Given the description of an element on the screen output the (x, y) to click on. 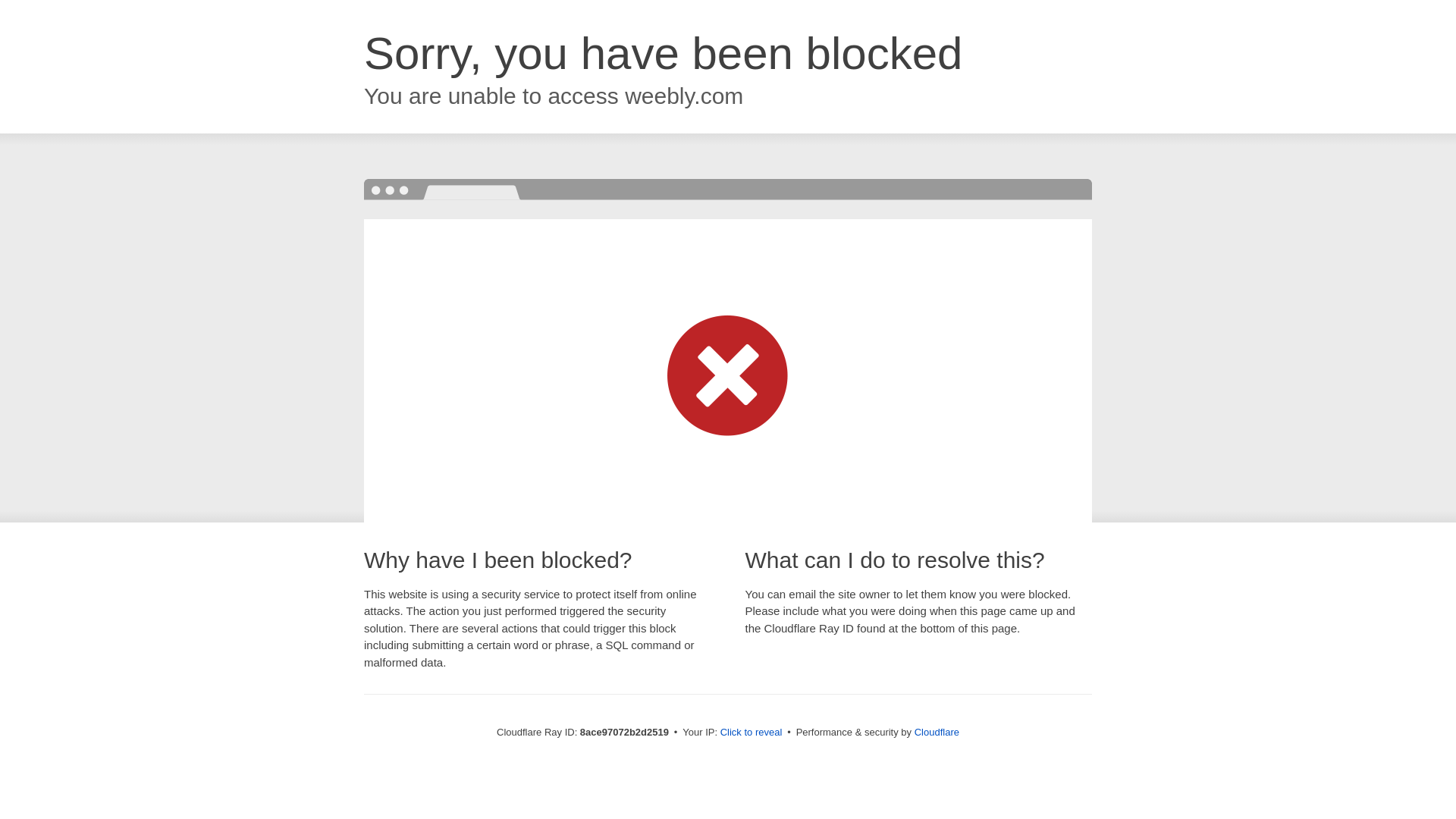
Cloudflare (936, 731)
Click to reveal (751, 732)
